Given the description of an element on the screen output the (x, y) to click on. 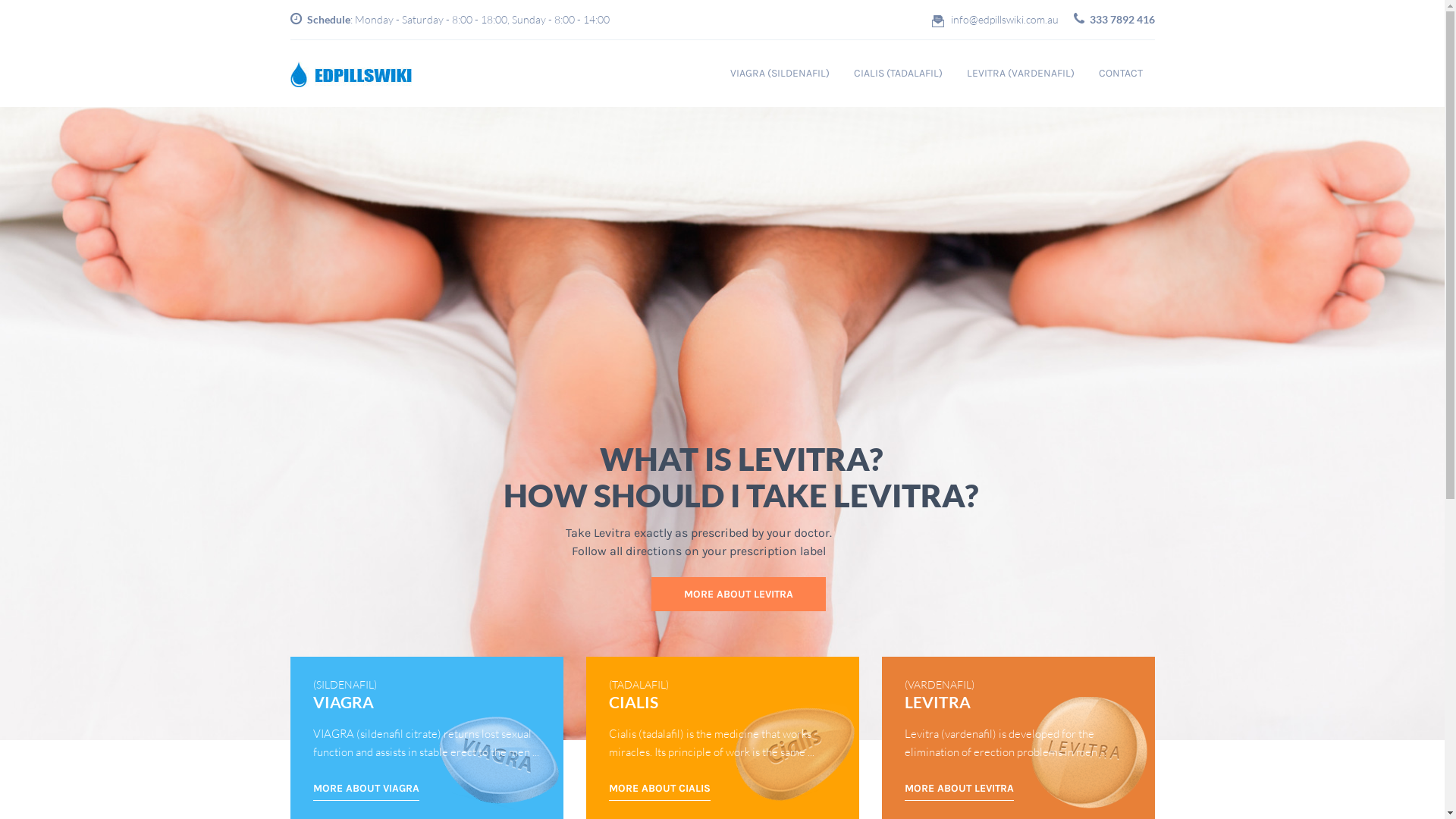
MORE ABOUT LEVITRA Element type: text (958, 790)
CIALIS (TADALAFIL) Element type: text (897, 73)
LEVITRA (VARDENAFIL) Element type: text (1019, 73)
VIAGRA (SILDENAFIL) Element type: text (778, 73)
MORE ABOUT VIAGRA Element type: text (365, 790)
CONTACT Element type: text (1119, 73)
MORE ABOUT CIALIS Element type: text (658, 790)
MORE ABOUT VIAGRA Element type: text (375, 412)
